Given the description of an element on the screen output the (x, y) to click on. 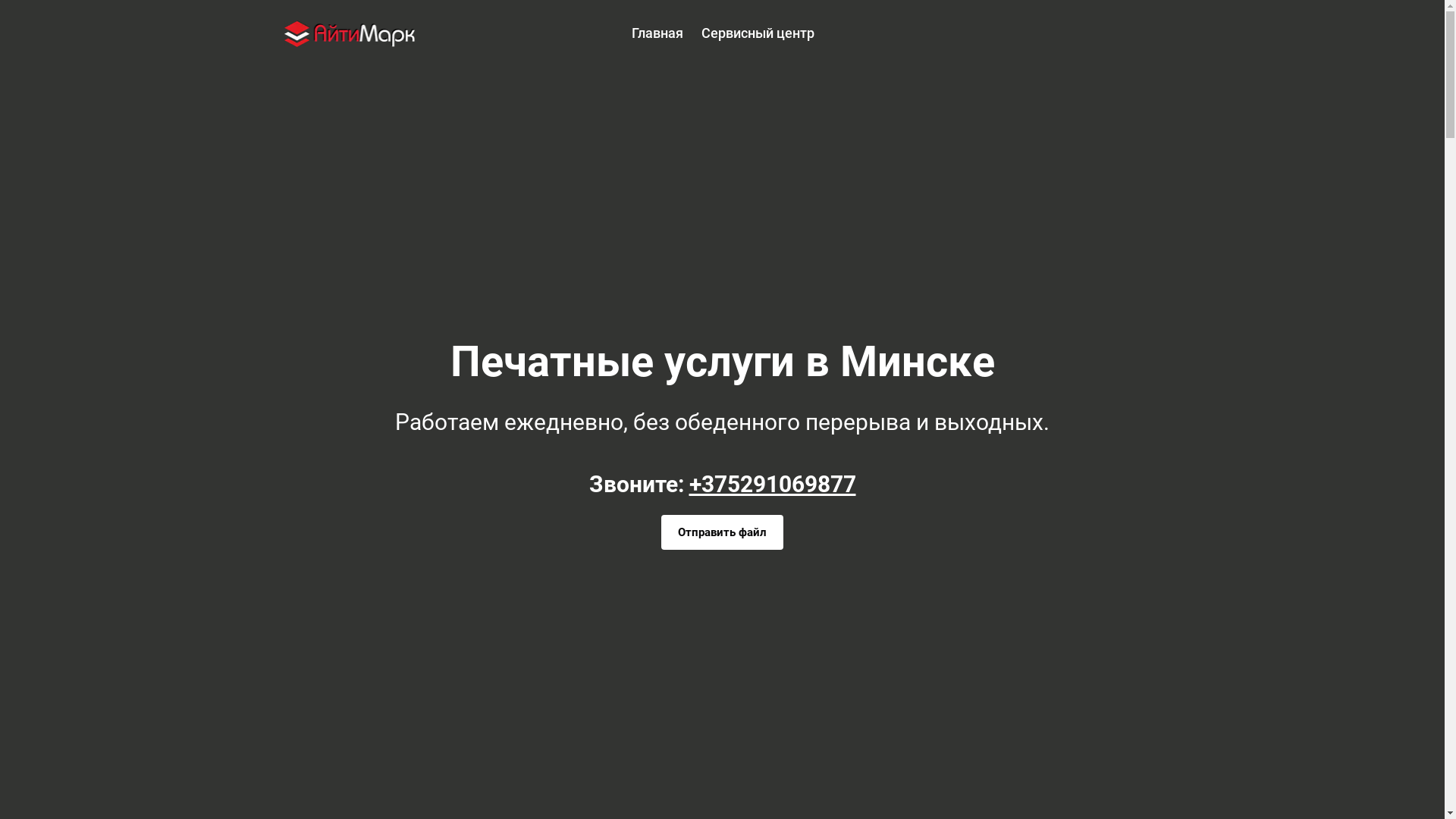
+375291069877 Element type: text (771, 483)
